Given the description of an element on the screen output the (x, y) to click on. 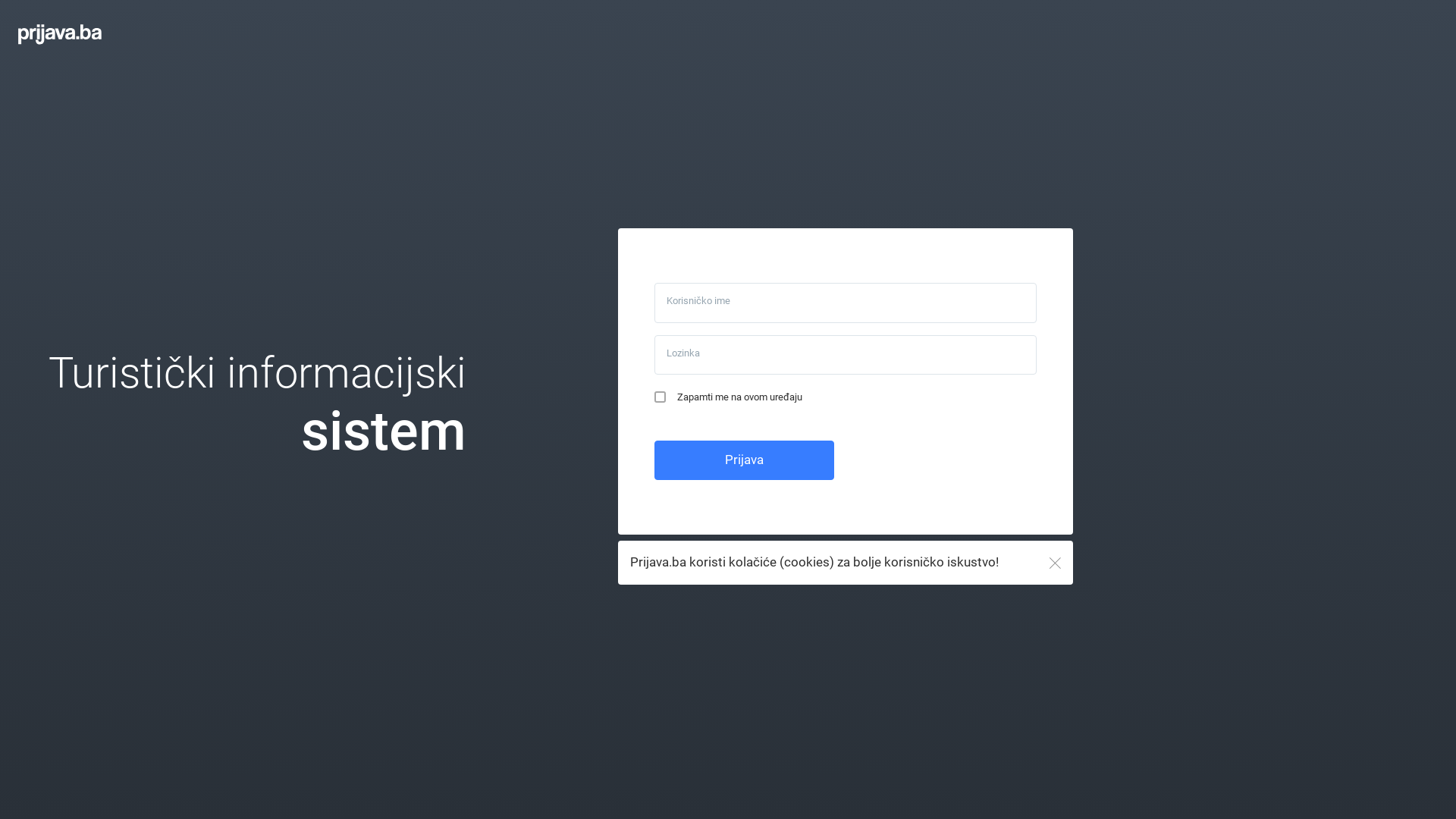
Prijava Element type: text (744, 460)
